Given the description of an element on the screen output the (x, y) to click on. 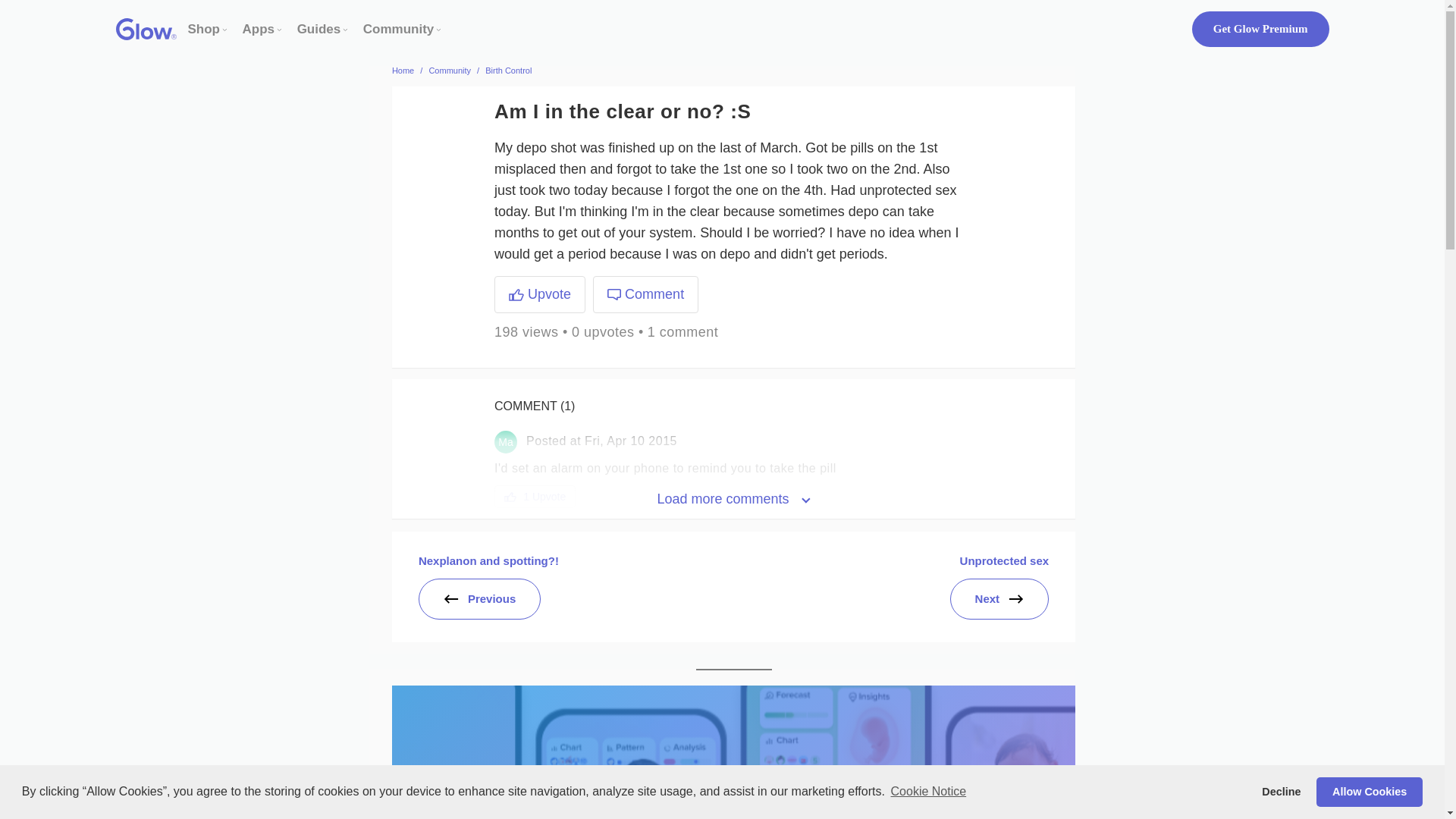
Decline (1281, 791)
Guides (318, 28)
Allow Cookies (1369, 791)
Glow Shop (204, 28)
Apps (259, 28)
Cookie Notice (928, 791)
Shop (204, 28)
Glow Community (397, 28)
